Given the description of an element on the screen output the (x, y) to click on. 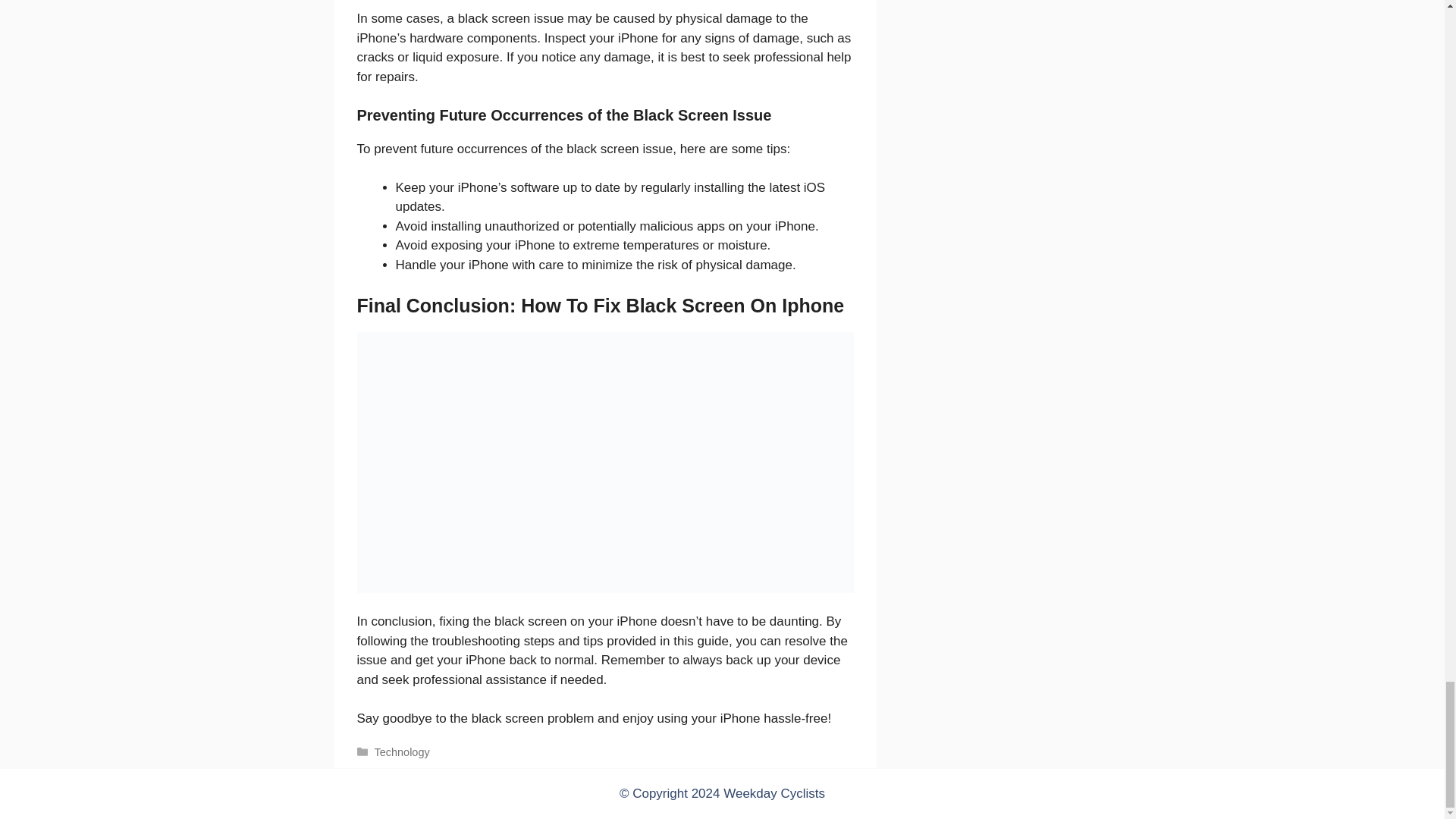
Technology (401, 752)
Weekday Cyclists (774, 793)
Iphone screen (604, 462)
Weekday Cyclists (774, 793)
